Given the description of an element on the screen output the (x, y) to click on. 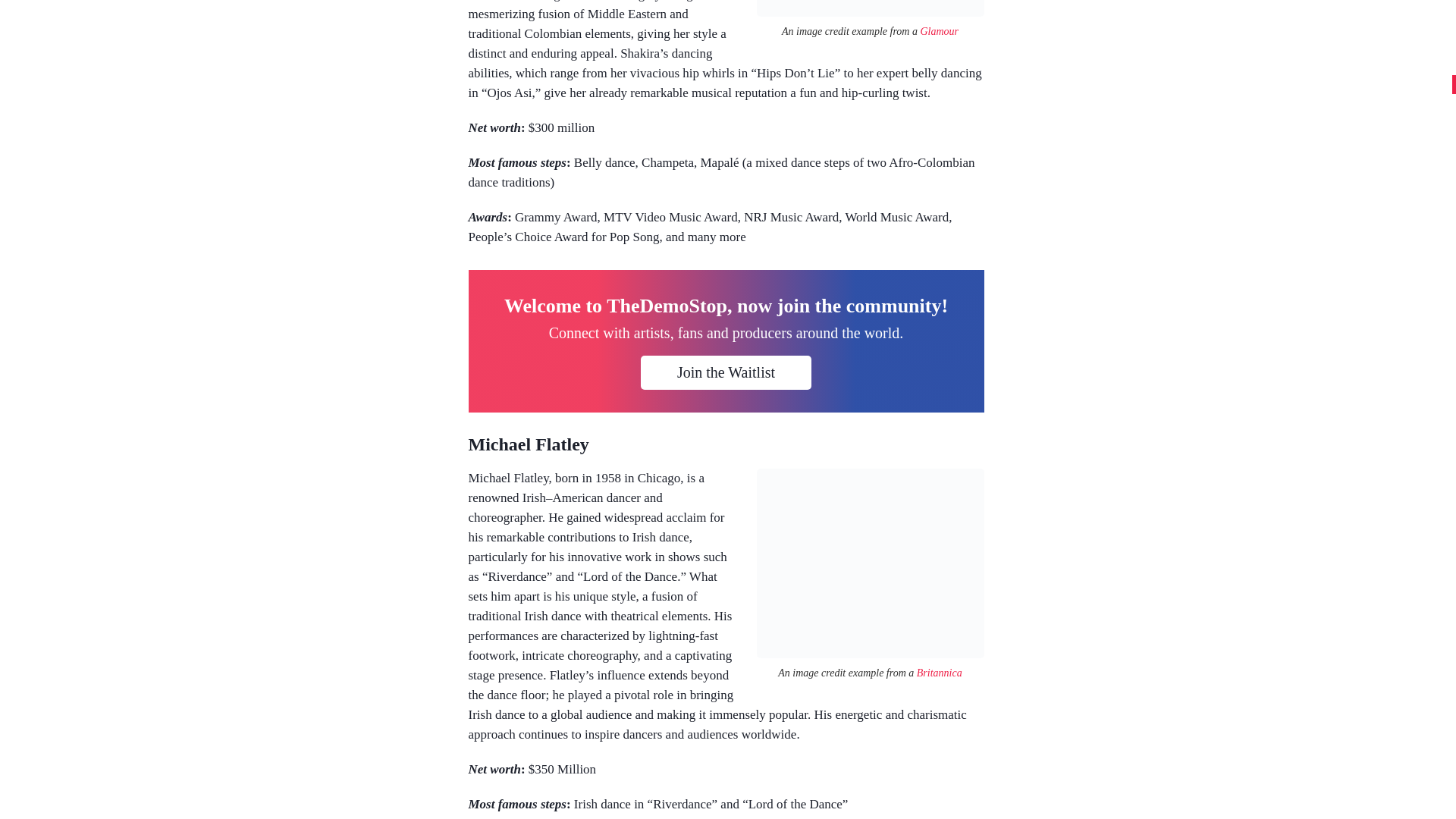
Join the Waitlist (725, 372)
Glamour (939, 30)
Britannica (939, 672)
